Given the description of an element on the screen output the (x, y) to click on. 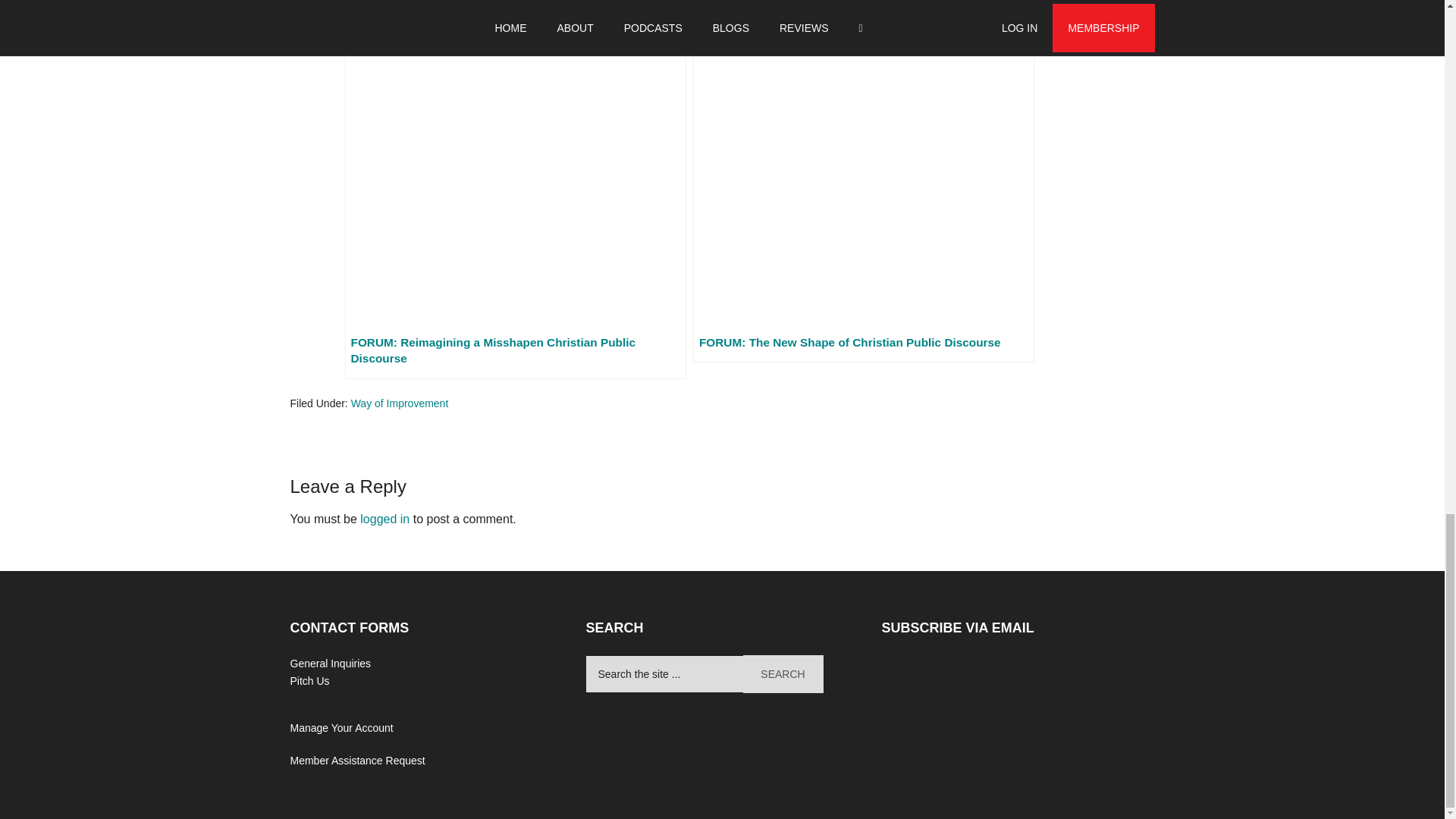
FORUM: Reimagining a Misshapen Christian Public Discourse (514, 189)
FORUM: The New Shape of Christian Public Discourse (863, 181)
Search (783, 673)
Search (783, 673)
